Given the description of an element on the screen output the (x, y) to click on. 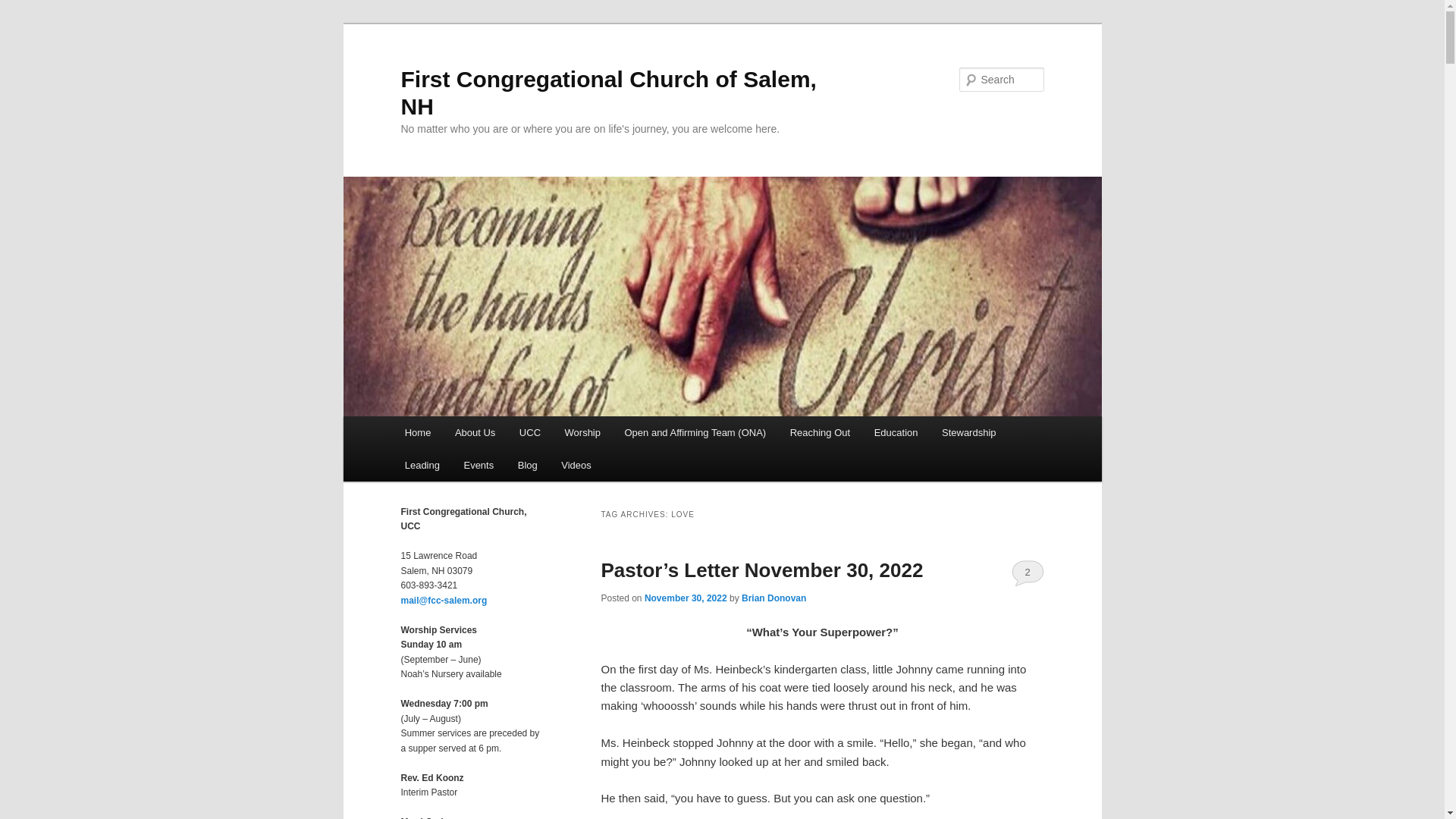
Stewardship (968, 432)
Worship (582, 432)
First Congregational Church of Salem, NH (607, 92)
Home (417, 432)
About Us (474, 432)
Leading (422, 464)
Education (895, 432)
View all posts by Brian Donovan (773, 597)
Search (24, 8)
12:06 pm (685, 597)
Reaching Out (819, 432)
UCC (529, 432)
